Given the description of an element on the screen output the (x, y) to click on. 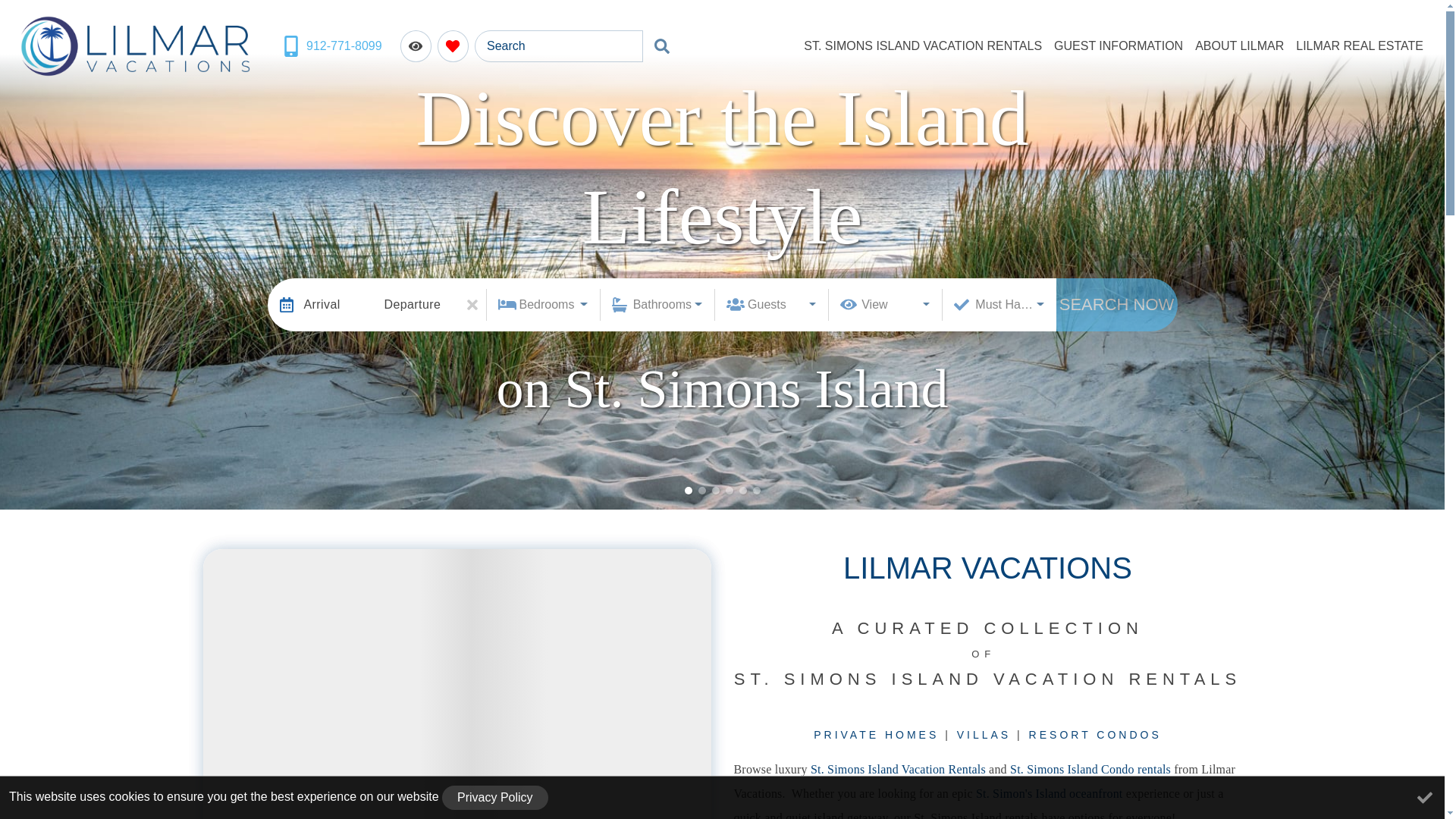
ST. SIMONS ISLAND VACATION RENTALS (922, 46)
ABOUT LILMAR (1239, 46)
Clear QS Datepicker (471, 304)
Bedrooms (541, 304)
Must Haves (998, 304)
912-771-8099 (331, 45)
View (885, 304)
GUEST INFORMATION (1118, 46)
Bathrooms (656, 304)
Guests (771, 304)
